Given the description of an element on the screen output the (x, y) to click on. 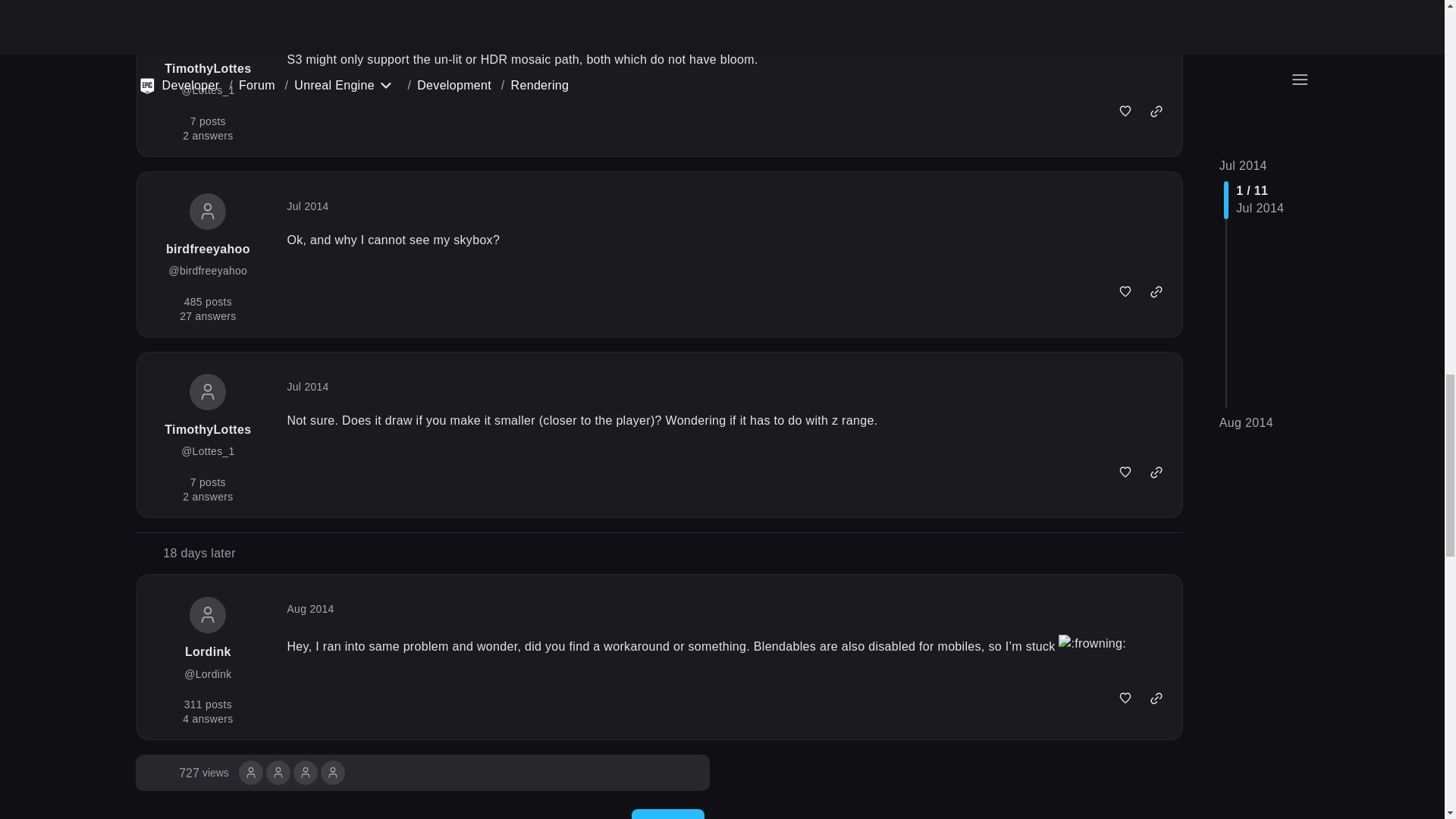
Shadowriver (277, 771)
Lordink (202, 772)
TimothyLottes (332, 772)
Shadowriver (305, 772)
birdfreeyahoo (277, 772)
Lordink (250, 772)
birdfreeyahoo (332, 771)
